Given the description of an element on the screen output the (x, y) to click on. 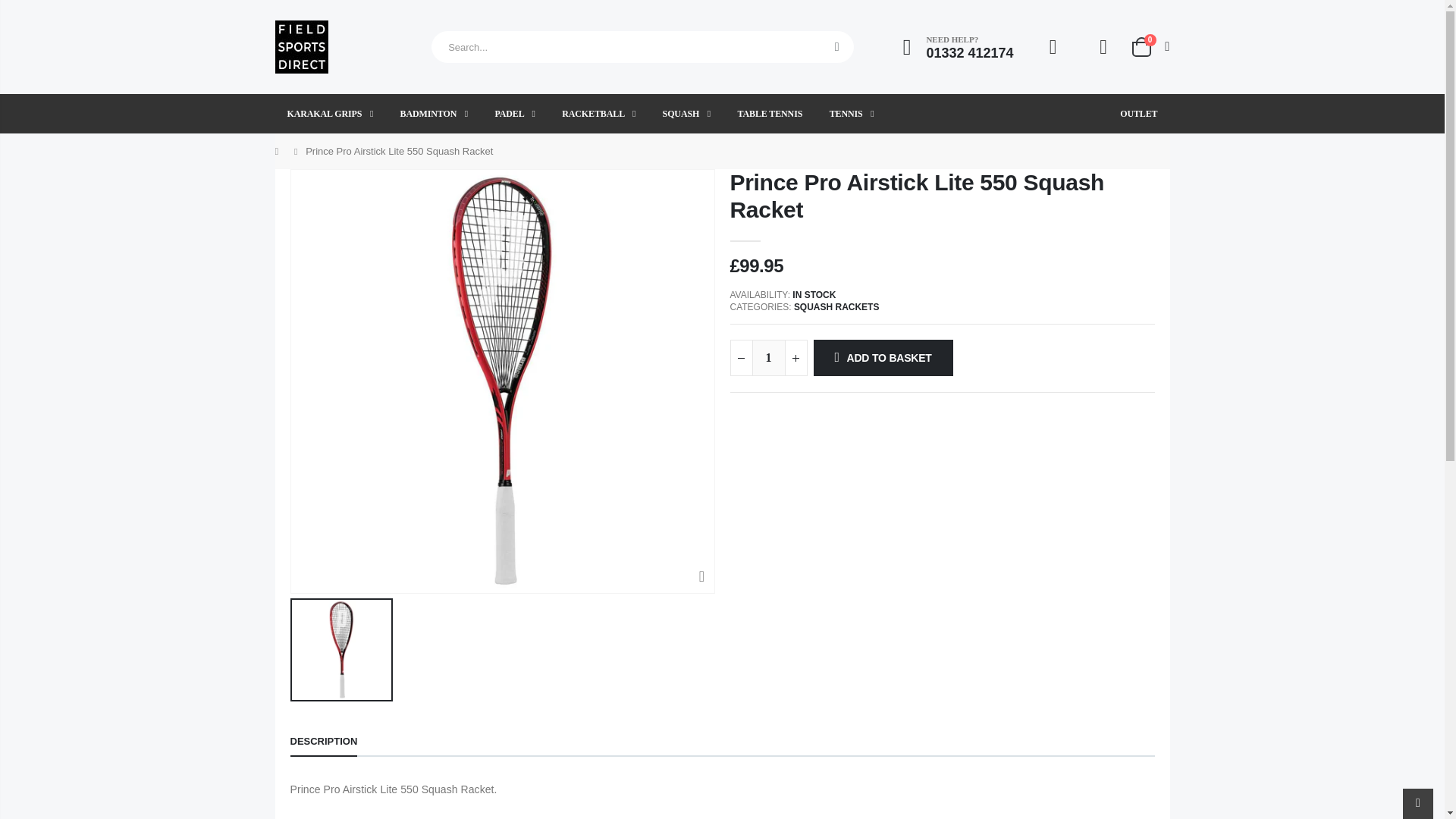
Search (837, 46)
RACKETBALL (598, 113)
0 (1149, 46)
1 (769, 357)
SQUASH (686, 113)
PADEL (514, 113)
OUTLET (1138, 113)
TENNIS (851, 113)
BADMINTON (434, 113)
TABLE TENNIS (769, 113)
